Given the description of an element on the screen output the (x, y) to click on. 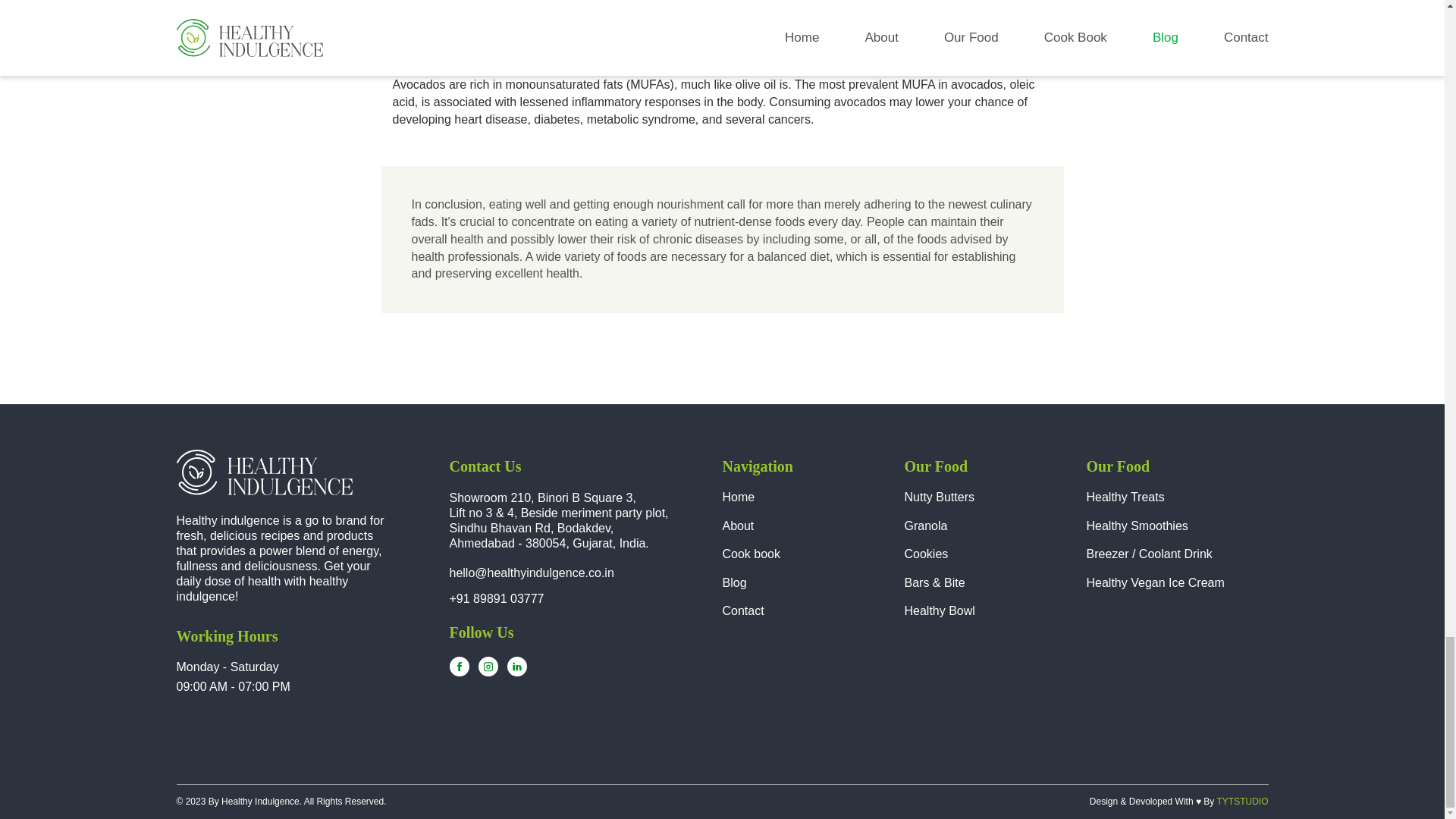
Healthy Bowl (939, 610)
Granola (925, 525)
Healthy Smoothies (1137, 525)
Healthy Treats (1124, 496)
TYTSTUDIO (1241, 801)
Cookies (925, 553)
About (738, 525)
Contact (742, 610)
Healthy Vegan Ice Cream (1155, 582)
Blog (733, 582)
